Given the description of an element on the screen output the (x, y) to click on. 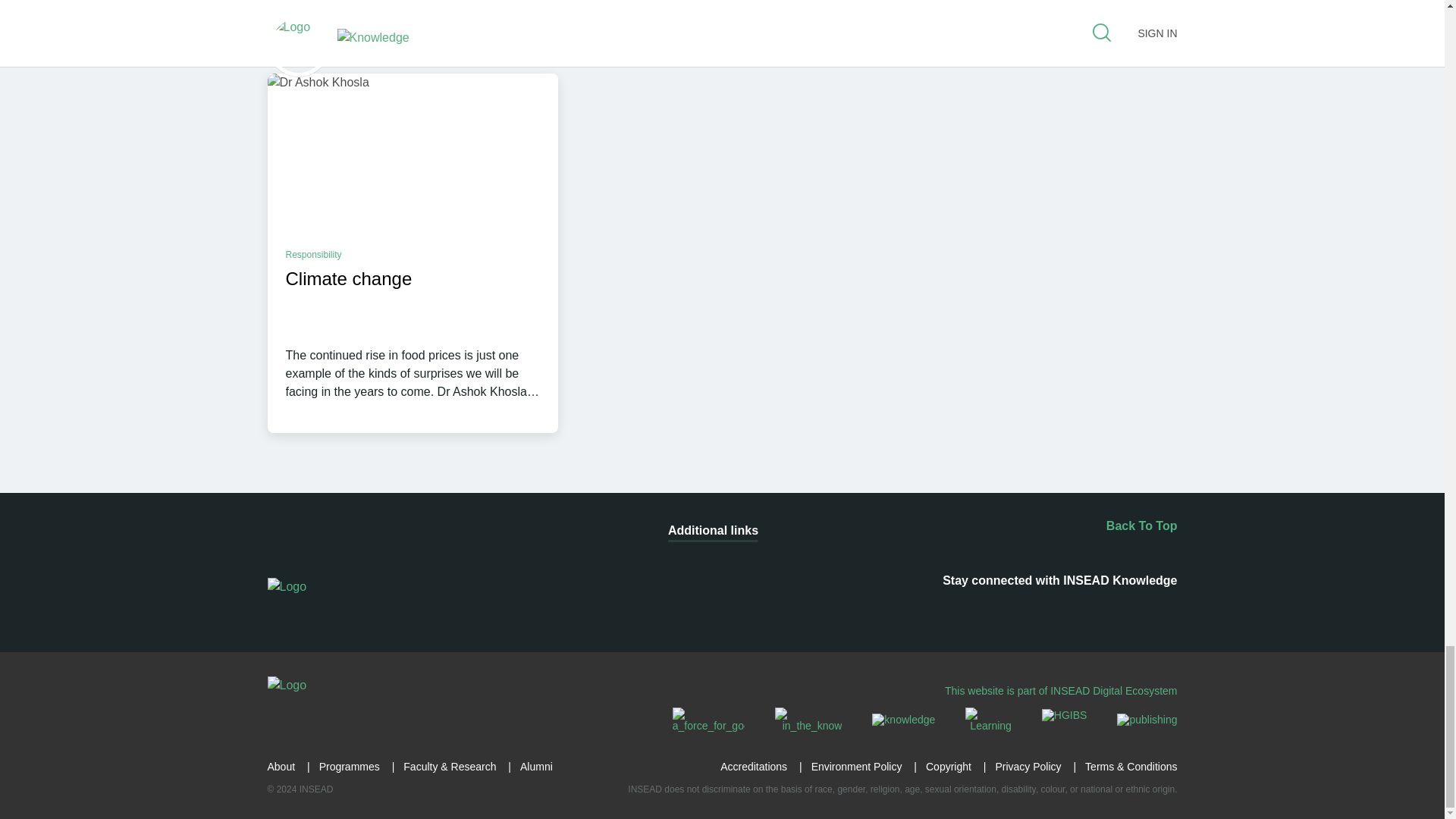
Podcasts (1115, 610)
Twitter (1025, 610)
Youtube (1071, 610)
RSS (891, 610)
Dr Ashok Khosla (411, 155)
LinkedIn (936, 610)
Facebook (980, 610)
